Given the description of an element on the screen output the (x, y) to click on. 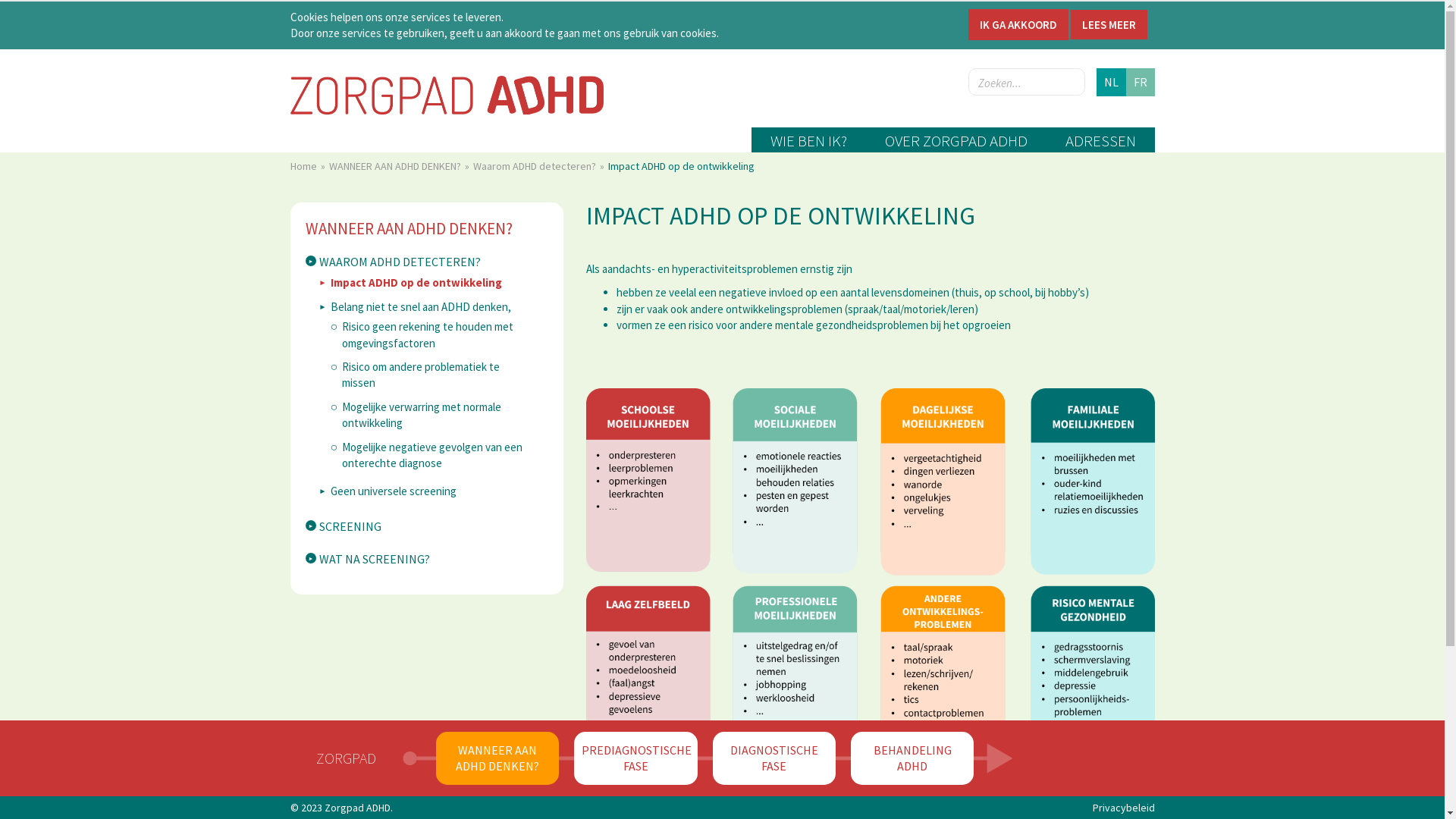
LEES MEER Element type: text (1108, 24)
Mogelijke verwarring met normale ontwikkeling Element type: text (425, 414)
BEHANDELING ADHD Element type: text (911, 757)
WANNEER AAN ADHD DENKEN? Element type: text (399, 165)
PREDIAGNOSTISCHE FASE Element type: text (635, 757)
Mogelijke negatieve gevolgen van een onterechte diagnose Element type: text (425, 455)
IK GA AKKOORD Element type: text (1017, 24)
Geen universele screening Element type: text (386, 490)
NL Element type: text (1111, 82)
WANNEER AAN ADHD DENKEN? Element type: text (425, 228)
Risico om andere problematiek te missen Element type: text (425, 374)
ZORGPAD Element type: text (345, 757)
WAT NA SCREENING? Element type: text (366, 558)
WANNEER AAN ADHD DENKEN? Element type: text (497, 757)
FR Element type: text (1139, 82)
WAAROM ADHD DETECTEREN? Element type: text (392, 261)
Home Element type: text (307, 165)
SCREENING Element type: text (342, 526)
Privacybeleid Element type: text (1123, 807)
Impact ADHD op de ontwikkeling Element type: text (409, 282)
Risico geen rekening te houden met omgevingsfactoren Element type: text (425, 334)
DIAGNOSTISCHE FASE Element type: text (773, 757)
WIE BEN IK? Element type: text (807, 139)
Belang niet te snel aan ADHD denken, Element type: text (413, 306)
Waarom ADHD detecteren? Element type: text (539, 165)
ADRESSEN Element type: text (1100, 139)
OVER ZORGPAD ADHD Element type: text (956, 139)
